Given the description of an element on the screen output the (x, y) to click on. 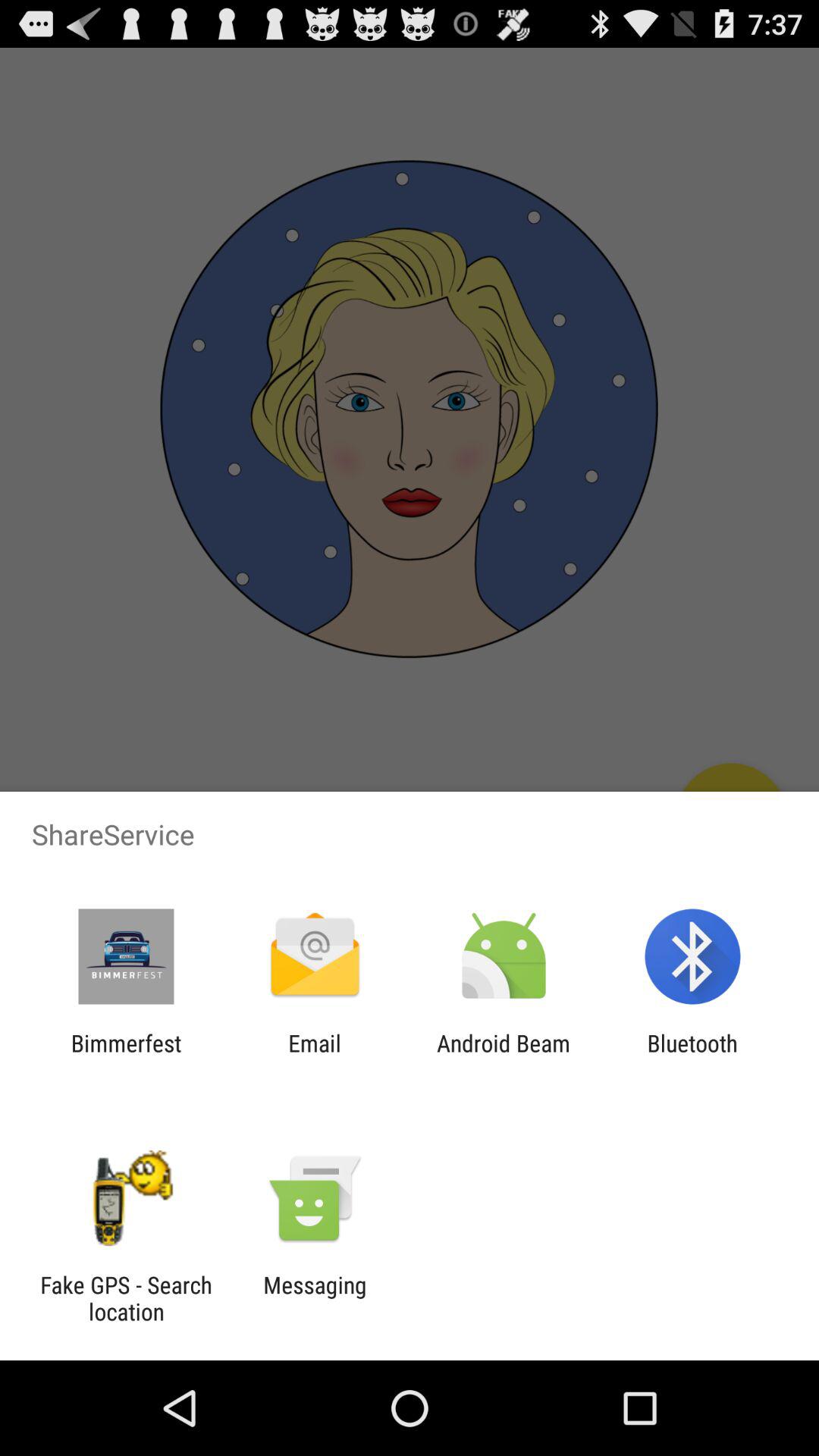
select the icon next to the bimmerfest icon (314, 1056)
